Given the description of an element on the screen output the (x, y) to click on. 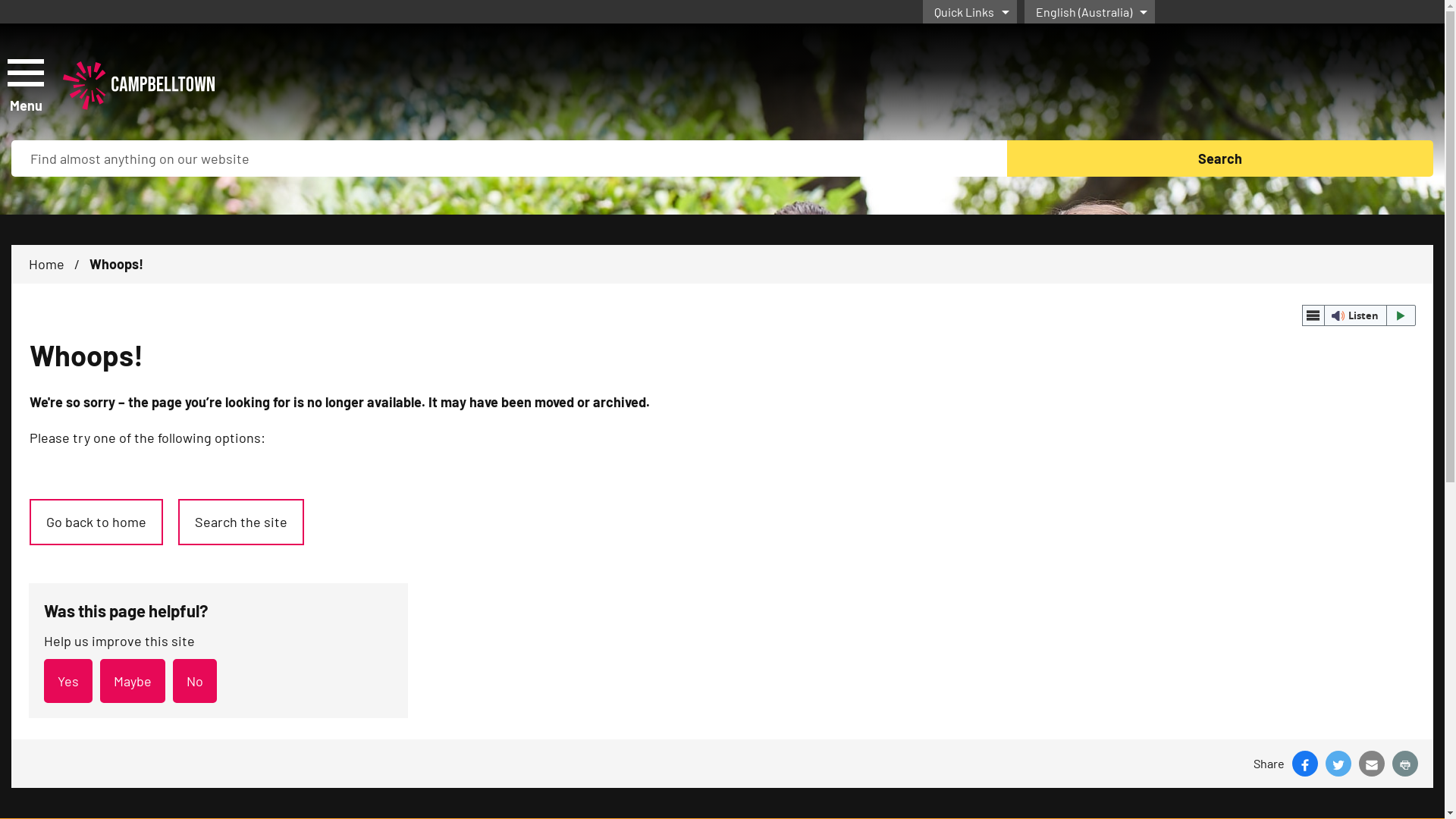
Quick Links Element type: text (969, 11)
Print Element type: text (1405, 763)
Search the site Element type: text (241, 521)
Your current preferred language is
English (Australia) Element type: text (1088, 11)
Home - Campbelltown City Council - Logo Element type: text (138, 85)
Email Element type: text (1371, 763)
Yes, this page was helpful Element type: hover (67, 680)
No, this page was not helpful Element type: hover (194, 680)
Listen Element type: text (1358, 315)
Open side
Menu Element type: text (23, 85)
Search Element type: text (1220, 158)
Go back to home Element type: text (96, 521)
Twitter Element type: text (1338, 763)
Facebook Element type: text (1304, 763)
Home Element type: text (46, 263)
webReader menu Element type: hover (1313, 315)
